Given the description of an element on the screen output the (x, y) to click on. 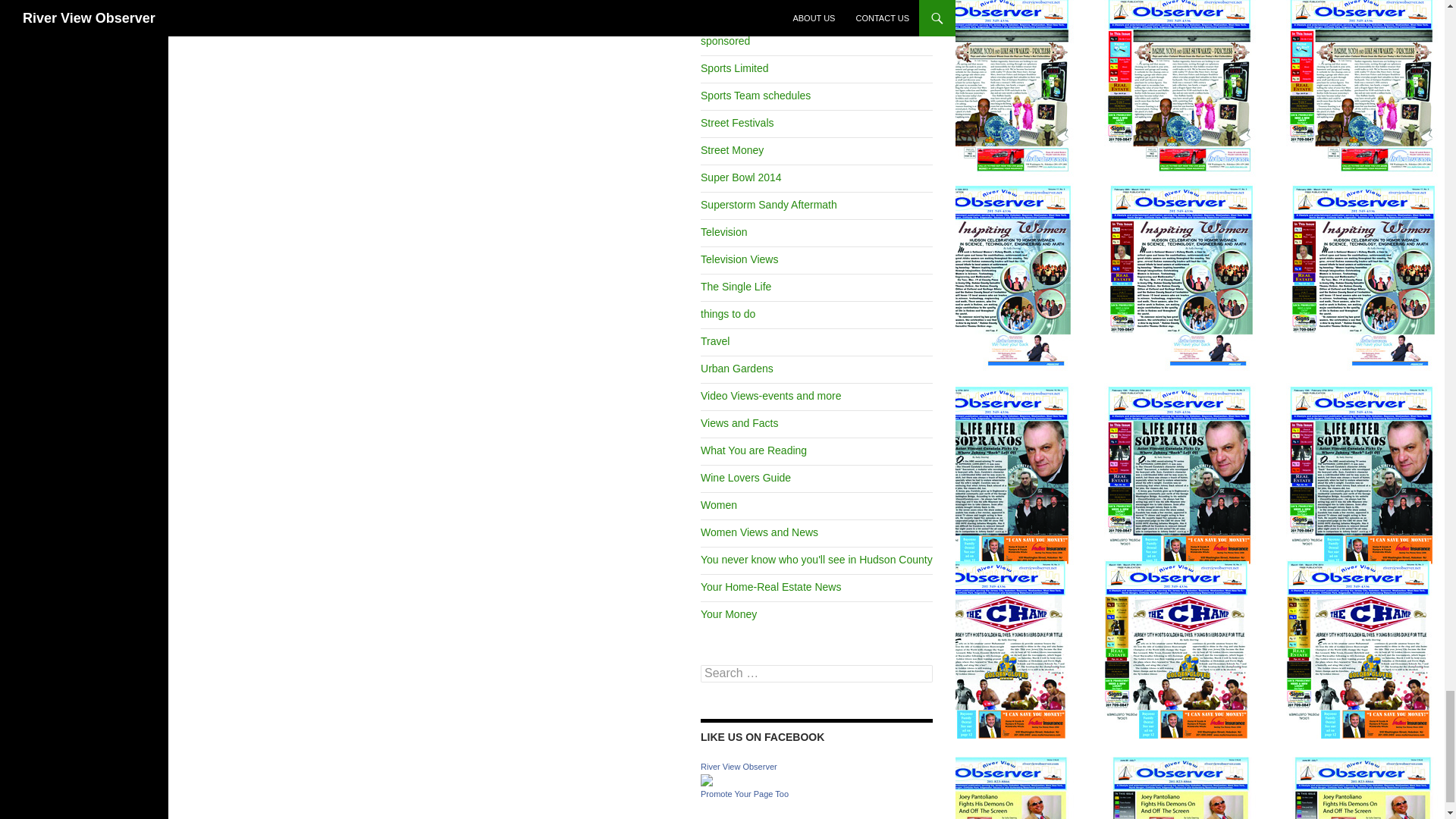
River View Observer (738, 766)
River View Observer (706, 779)
Make your own badge! (744, 793)
